Given the description of an element on the screen output the (x, y) to click on. 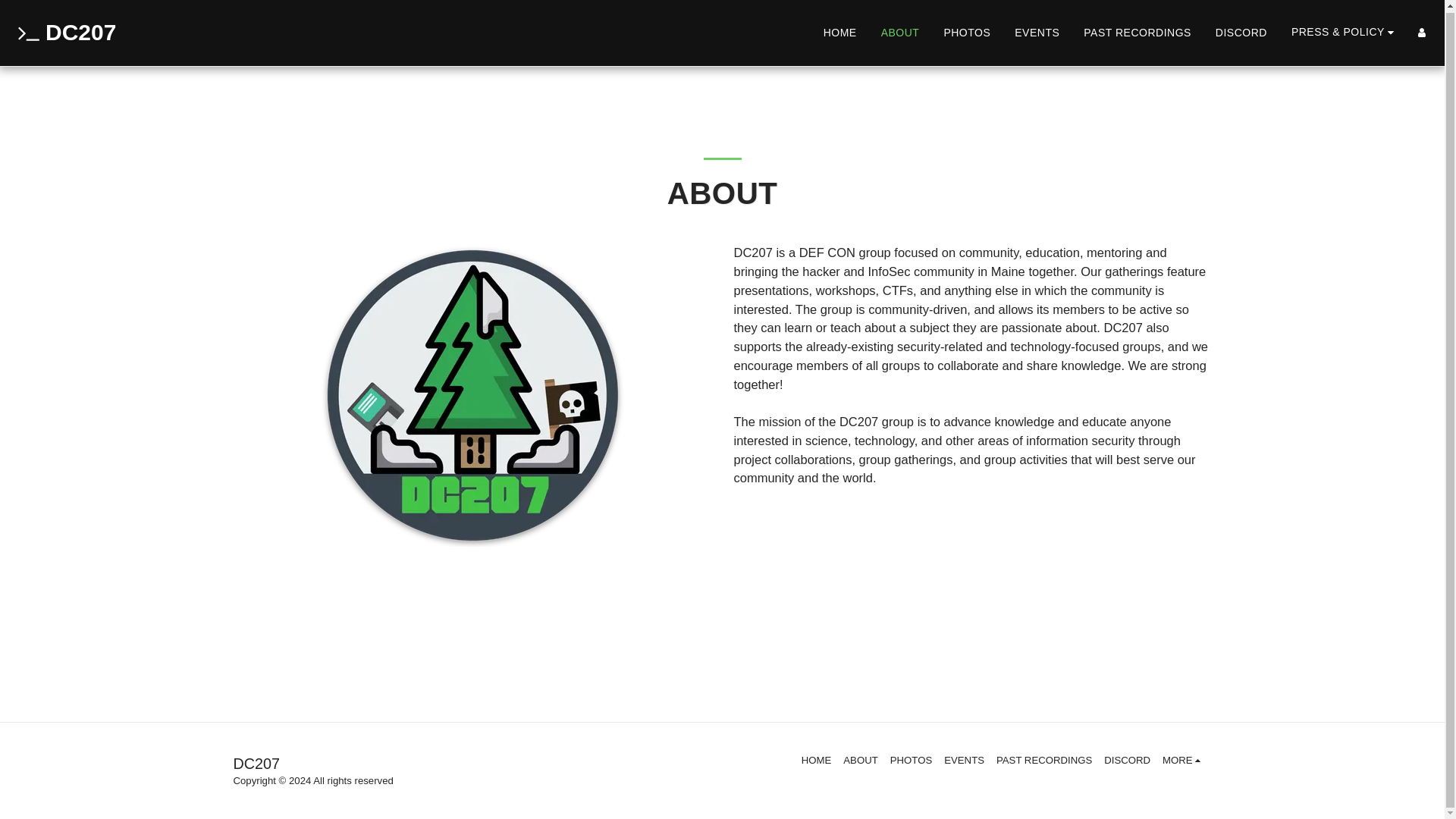
EVENTS (963, 760)
HOME (816, 760)
PAST RECORDINGS (1136, 31)
DISCORD (1126, 760)
ABOUT (900, 31)
HOME (839, 31)
MORE   (1183, 760)
ABOUT (860, 760)
DC207 (63, 33)
DISCORD (1241, 31)
